Given the description of an element on the screen output the (x, y) to click on. 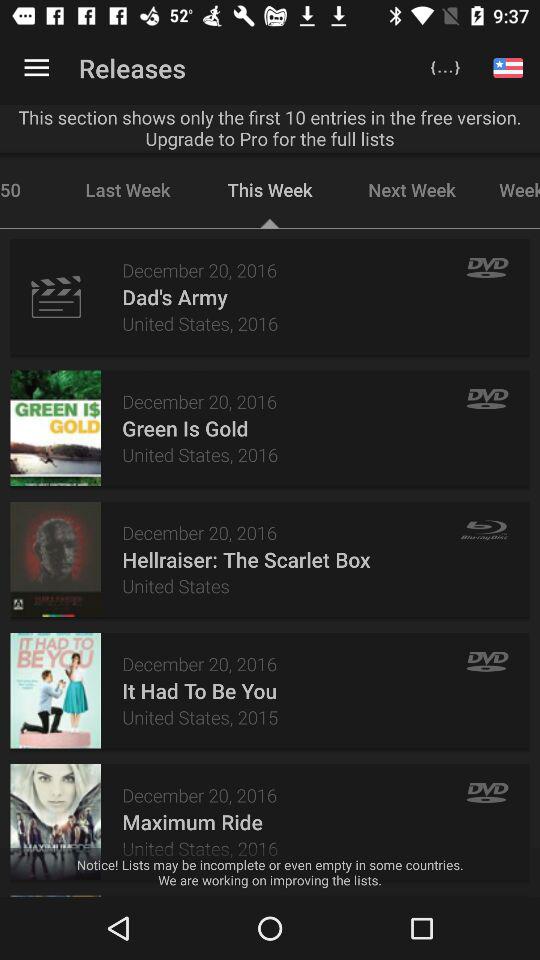
click on the fourth option (55, 690)
click on third image from top (55, 559)
